Given the description of an element on the screen output the (x, y) to click on. 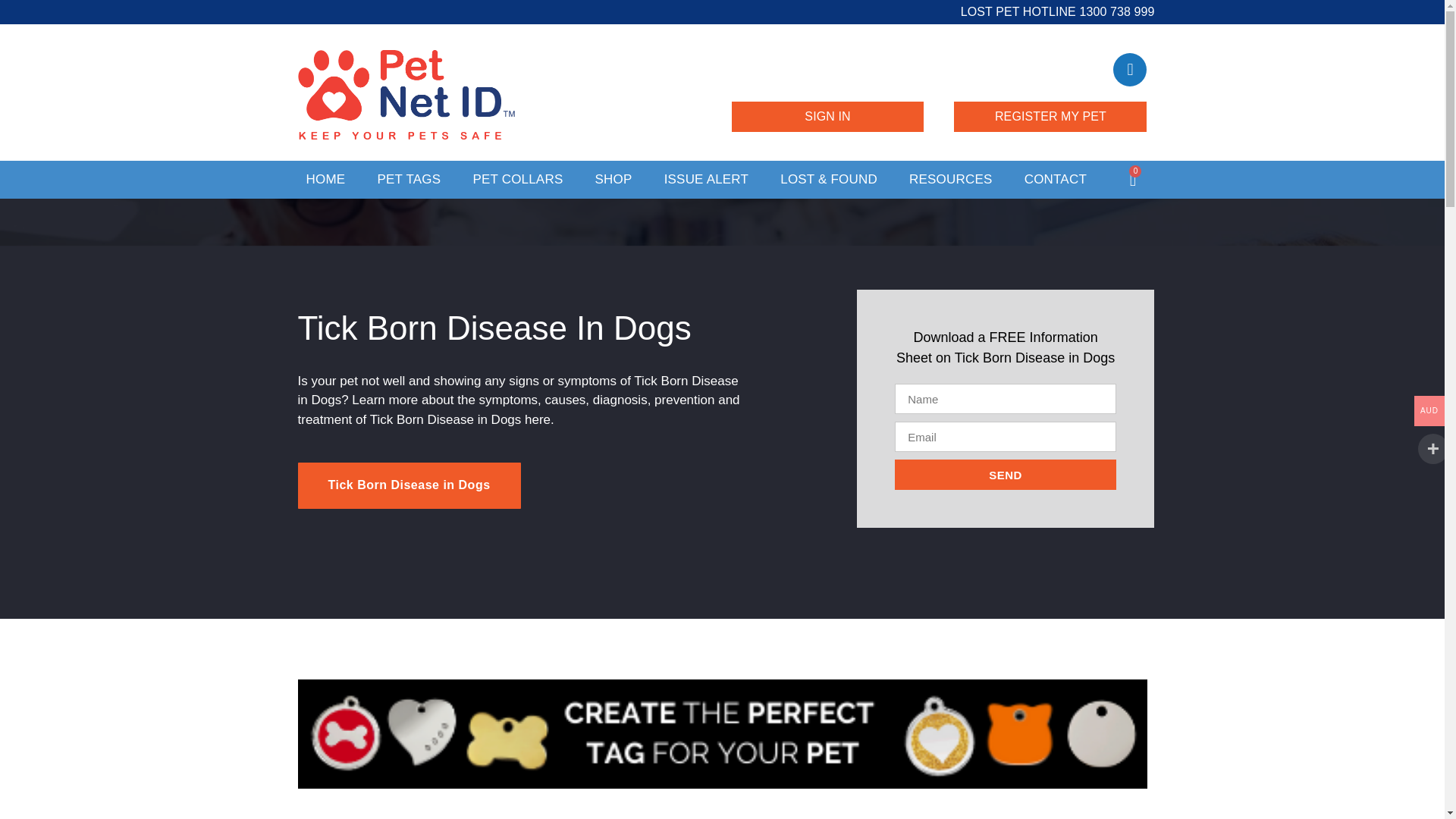
PET COLLARS (517, 179)
RESOURCES (951, 179)
ISSUE ALERT (706, 179)
PET TAGS (409, 179)
SHOP (612, 179)
CONTACT (1055, 179)
HOME (325, 179)
SIGN IN (826, 116)
REGISTER MY PET (1050, 116)
